Given the description of an element on the screen output the (x, y) to click on. 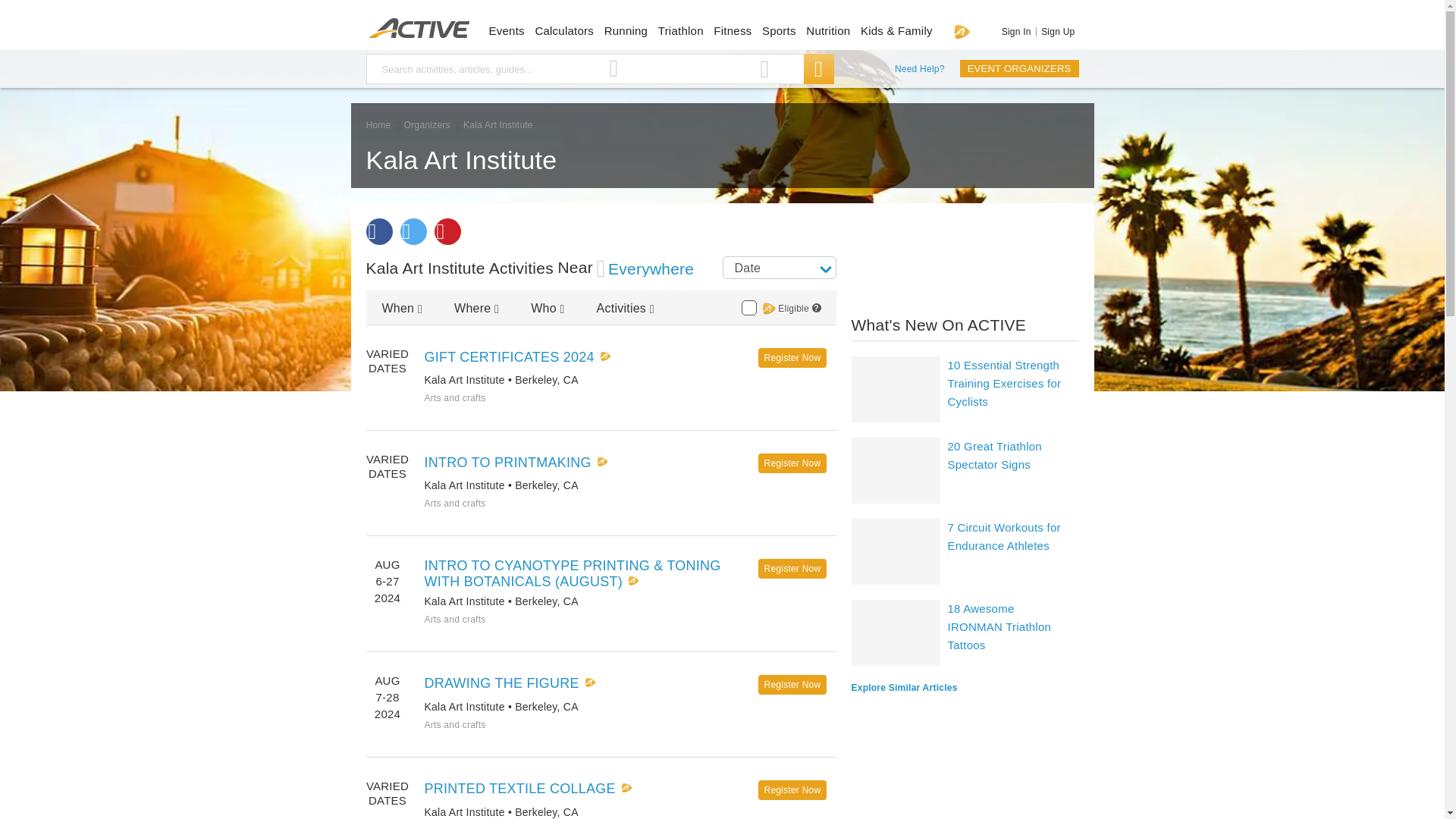
Go Premium (961, 31)
Share on Pinterest (446, 231)
Share on Facebook (378, 231)
Share on Twitter (413, 231)
